Given the description of an element on the screen output the (x, y) to click on. 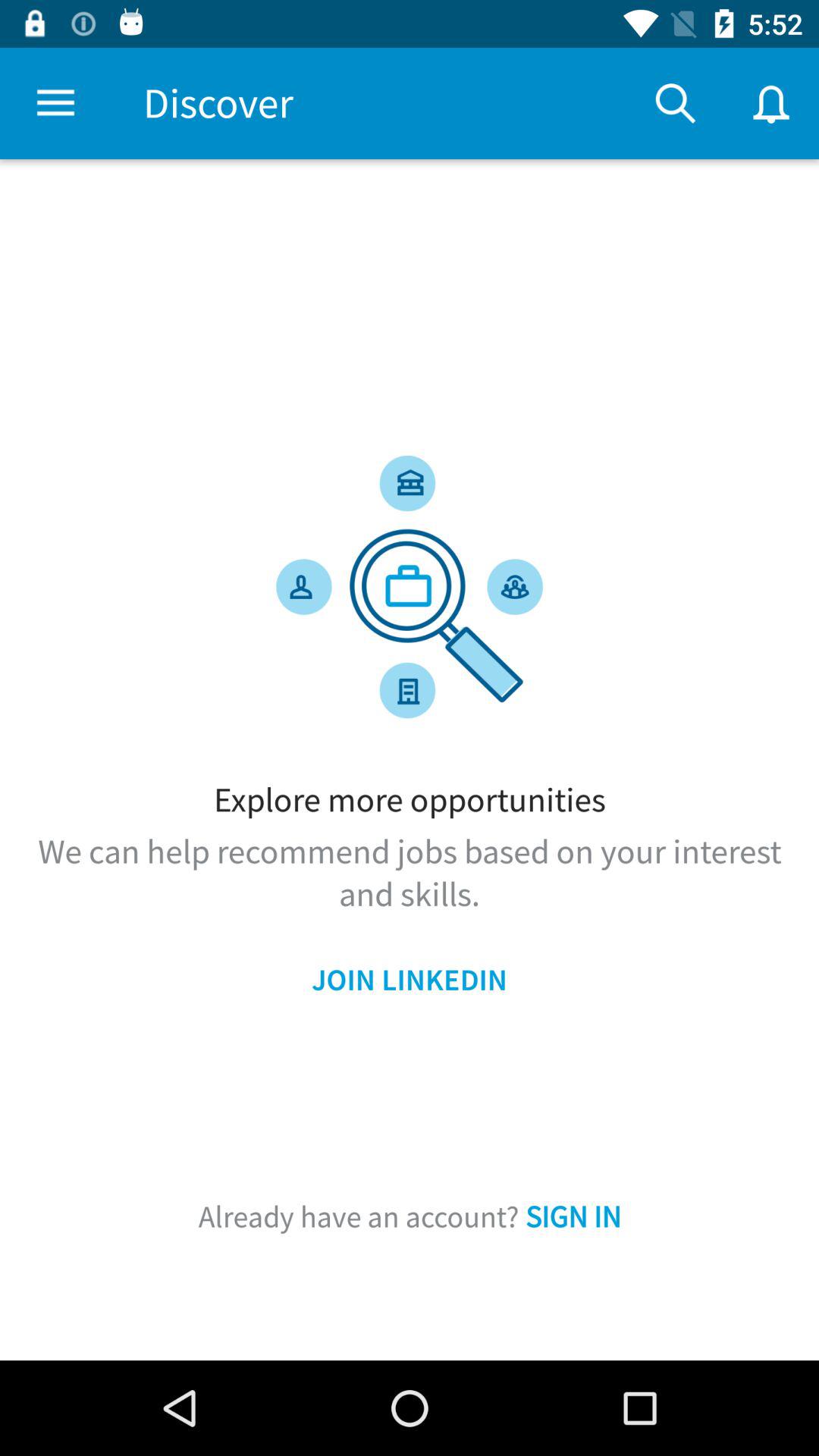
tap the icon above the already have an icon (409, 979)
